Given the description of an element on the screen output the (x, y) to click on. 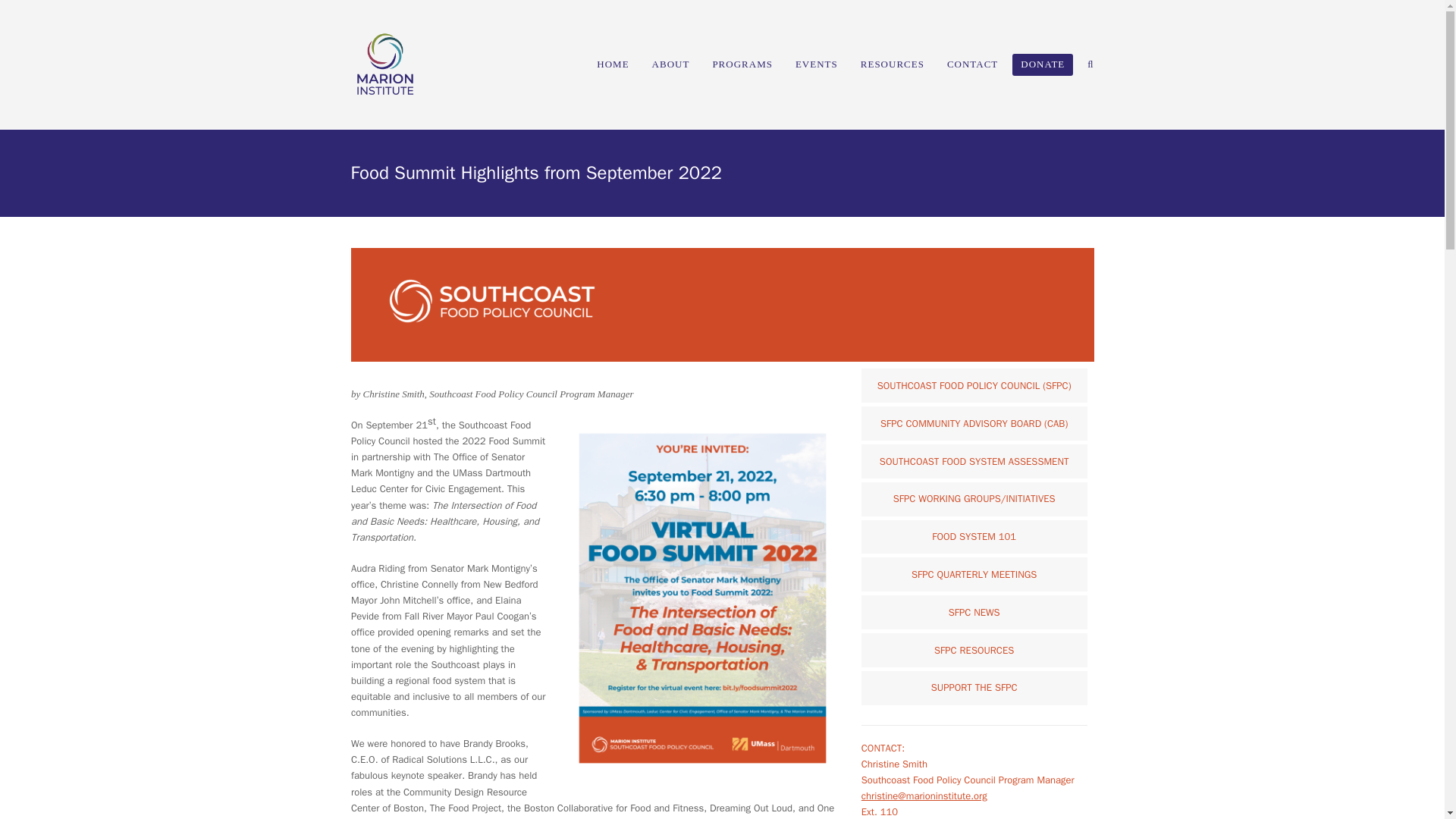
SOUTHCOAST FOOD SYSTEM ASSESSMENT (974, 461)
FOOD SYSTEM 101 (974, 537)
SFPC QUARTERLY MEETINGS (974, 574)
